Given the description of an element on the screen output the (x, y) to click on. 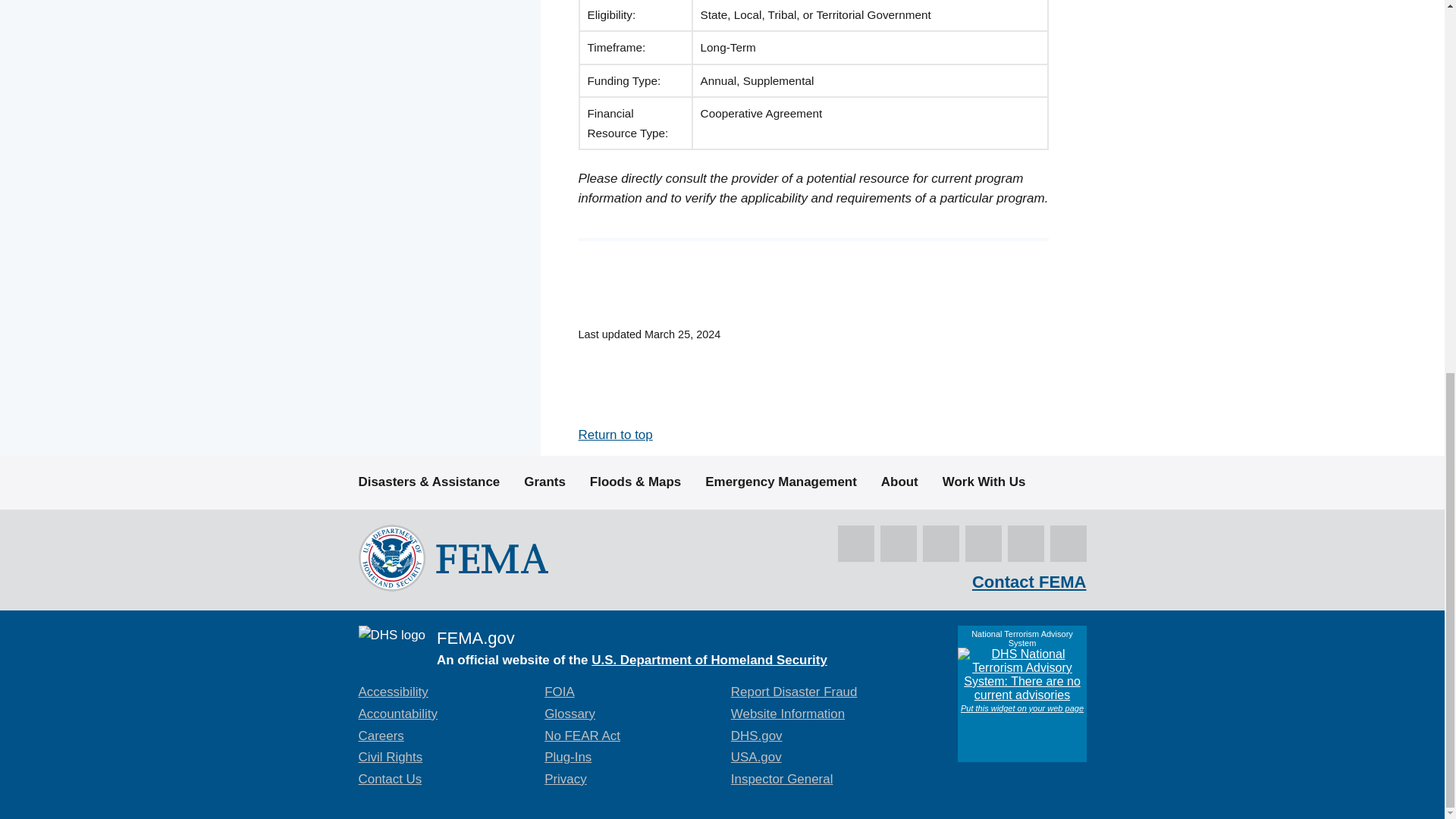
National Terrorism Advisory System (1021, 693)
Monday, March 25, 2024 - 19:53 (682, 334)
FEMA logo (452, 557)
